Given the description of an element on the screen output the (x, y) to click on. 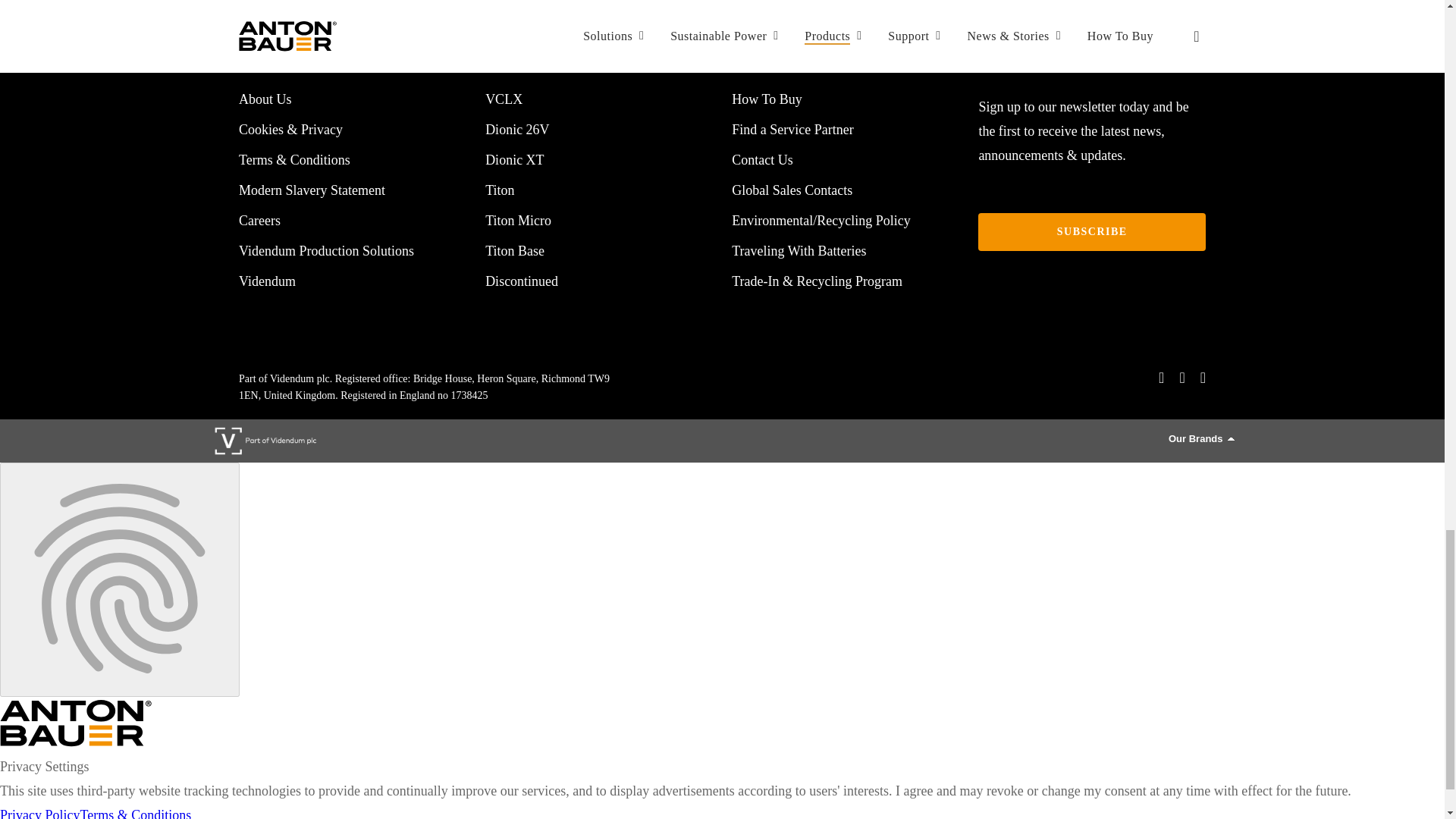
Visit Videndum's website (267, 440)
